Given the description of an element on the screen output the (x, y) to click on. 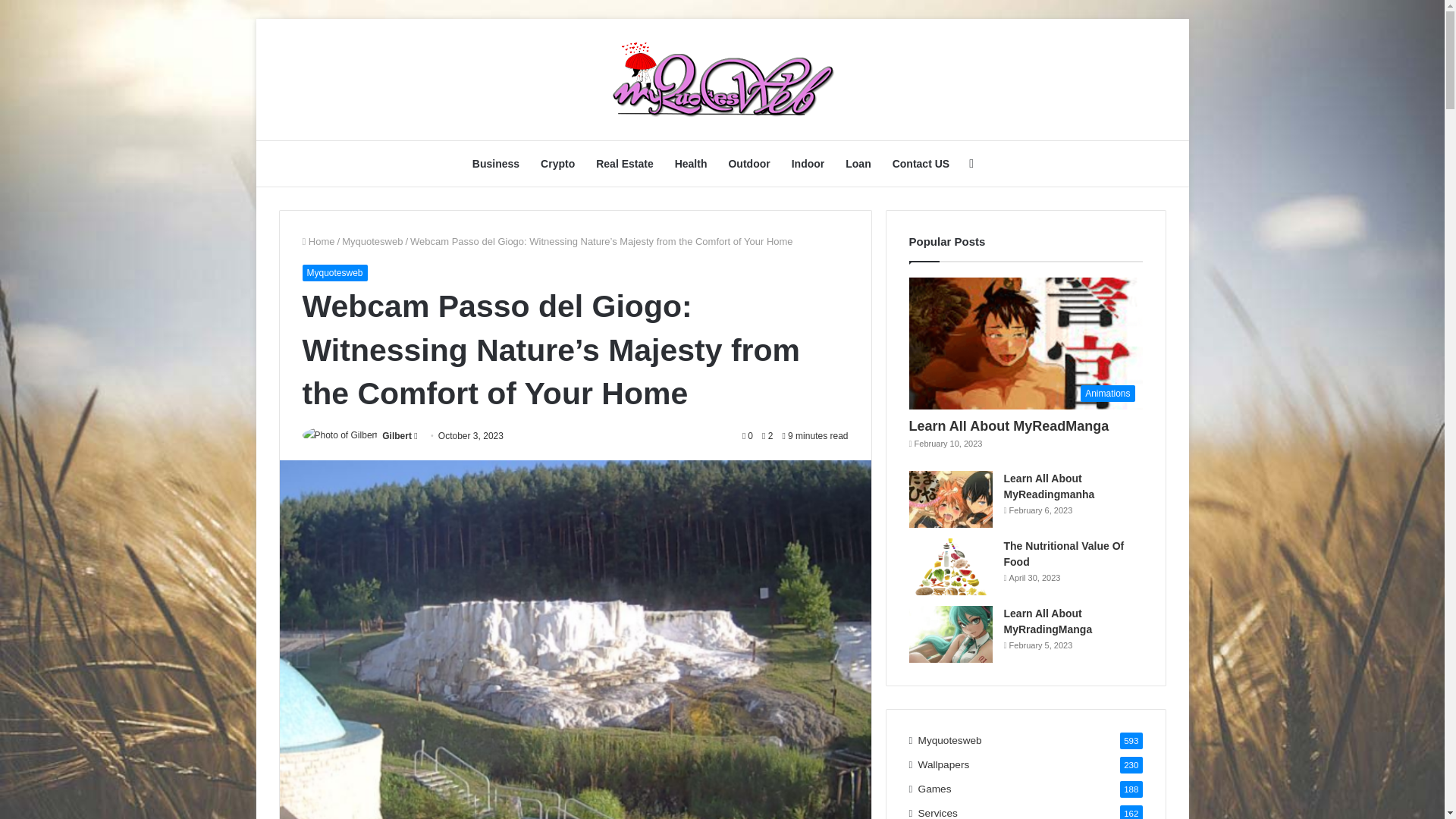
Loan (857, 163)
Contact US (920, 163)
Myquotesweb (333, 272)
My Quotes Web (721, 79)
Myquotesweb (372, 241)
Gilbert (396, 435)
Home (317, 241)
Crypto (557, 163)
Health (690, 163)
Outdoor (748, 163)
Real Estate (624, 163)
Business (495, 163)
Gilbert (396, 435)
Indoor (807, 163)
